Given the description of an element on the screen output the (x, y) to click on. 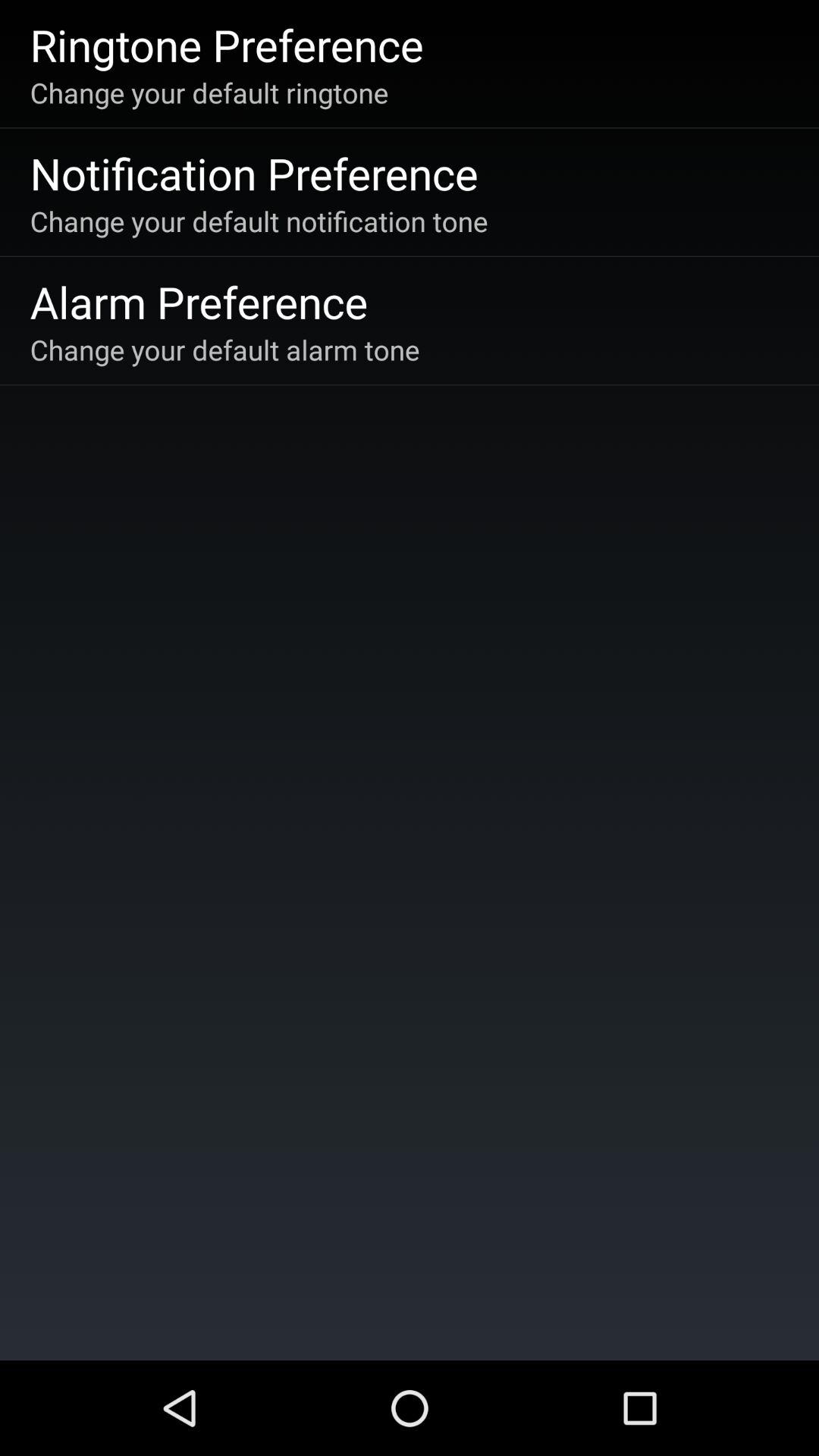
jump until the alarm preference (198, 301)
